Given the description of an element on the screen output the (x, y) to click on. 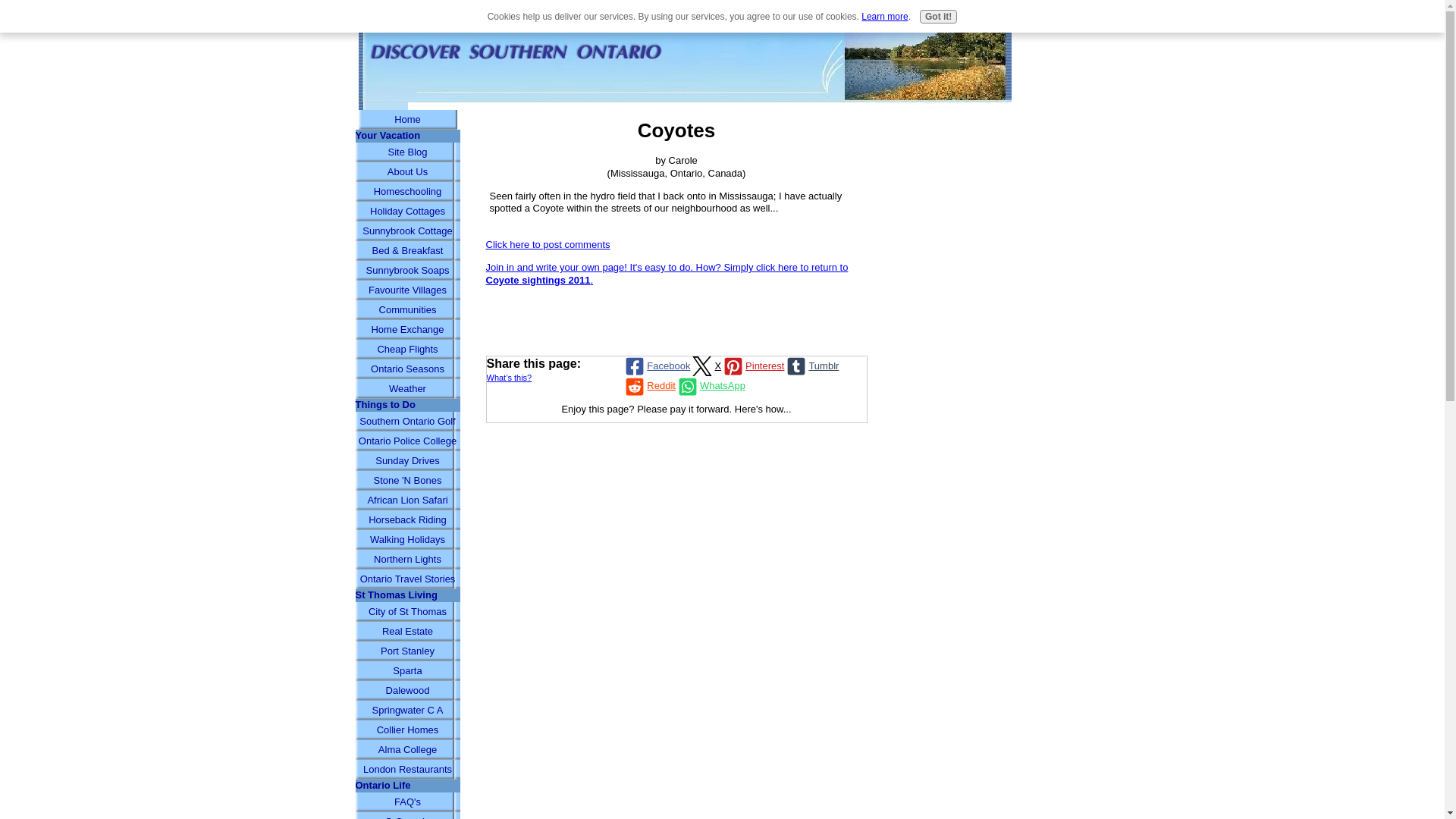
Pinterest (752, 366)
African Lion Safari (407, 500)
Stone 'N Bones Museum (407, 480)
Facebook (656, 366)
Dalewood (407, 690)
Southern Ontario Golf (407, 421)
Favourite Villages (407, 290)
Holiday Cottages (407, 211)
Cheap Flights (407, 349)
Collier Homes (407, 730)
